Given the description of an element on the screen output the (x, y) to click on. 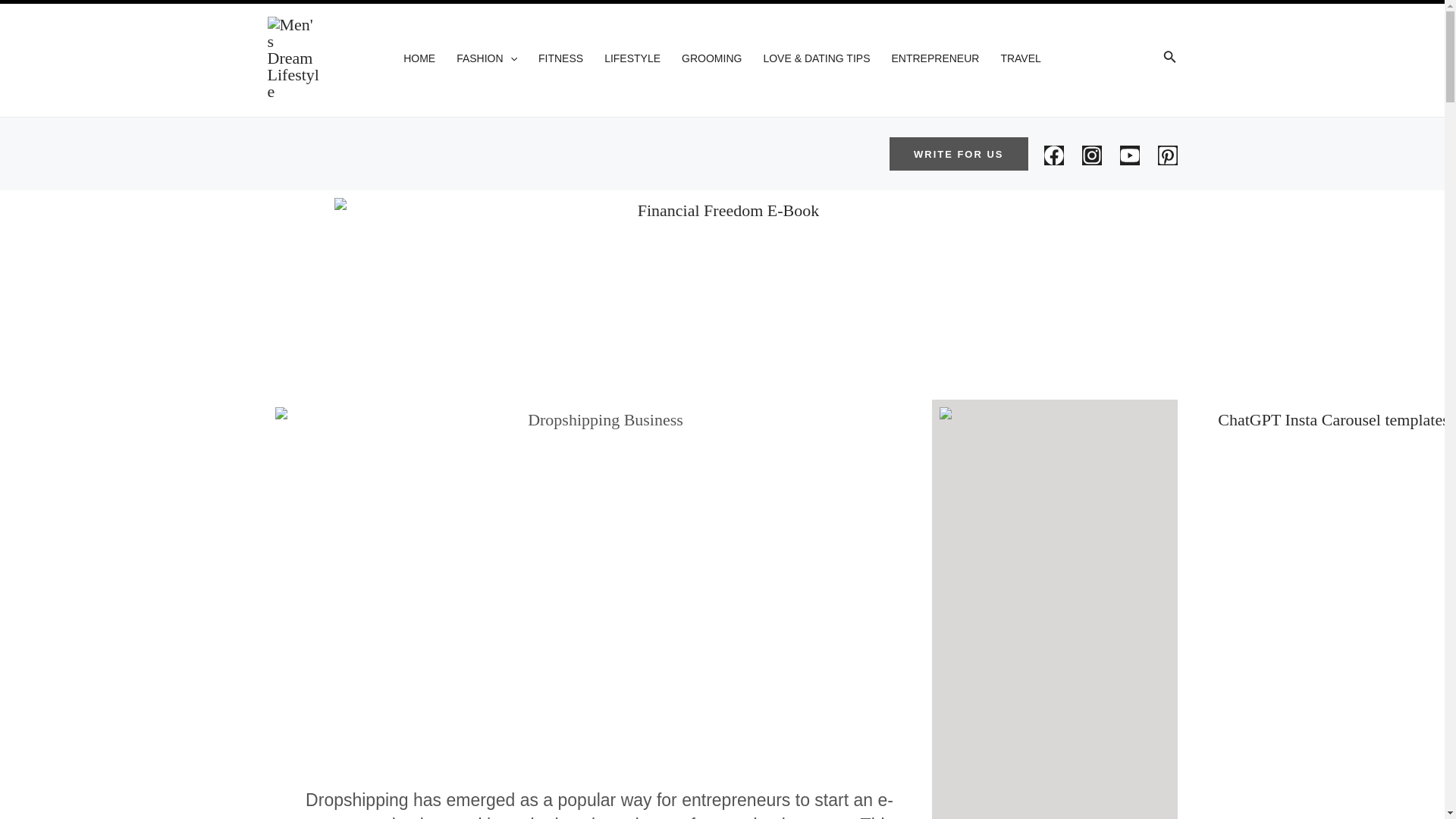
WRITE FOR US (958, 153)
FITNESS (560, 57)
ENTREPRENEUR (935, 57)
LIFESTYLE (632, 57)
FASHION (486, 57)
HOME (419, 57)
GROOMING (711, 57)
TRAVEL (1020, 57)
Search (1169, 57)
